Given the description of an element on the screen output the (x, y) to click on. 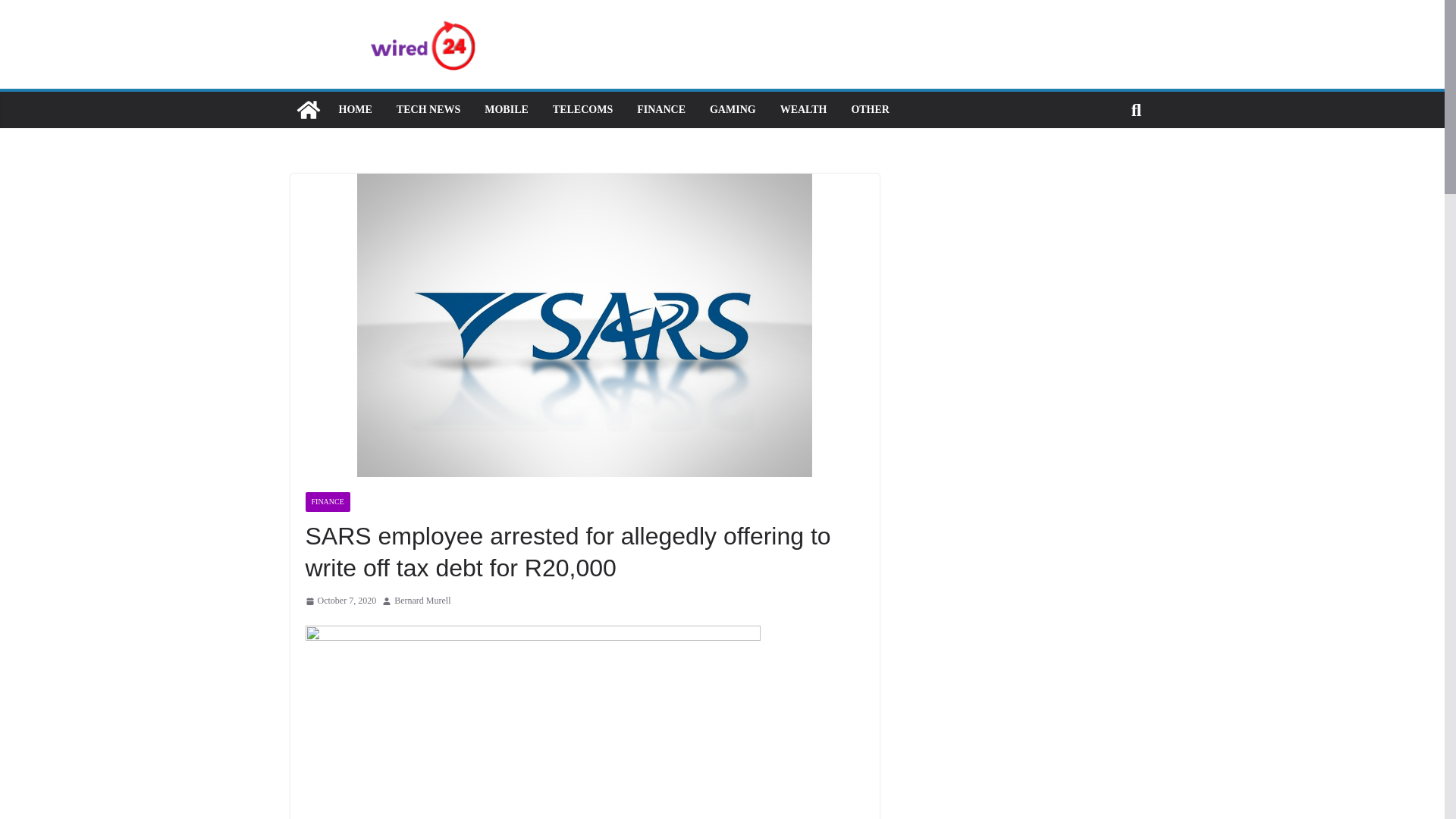
Bernard Murell (421, 600)
HOME (354, 109)
TECH NEWS (428, 109)
TELECOMS (582, 109)
Wired24 (307, 109)
FINANCE (326, 501)
GAMING (732, 109)
MOBILE (506, 109)
Bernard Murell (421, 600)
WEALTH (803, 109)
